Given the description of an element on the screen output the (x, y) to click on. 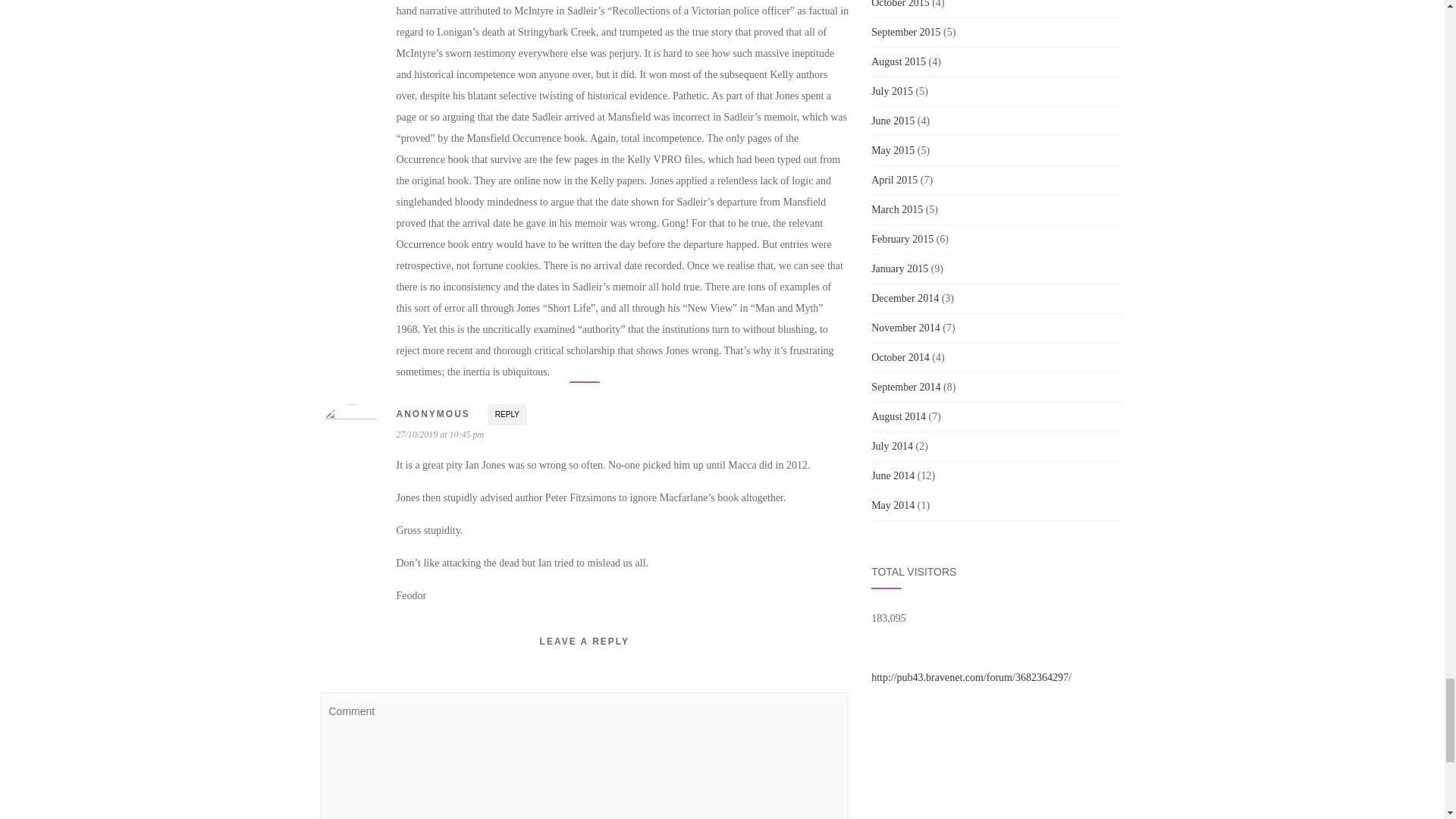
REPLY (507, 414)
